Given the description of an element on the screen output the (x, y) to click on. 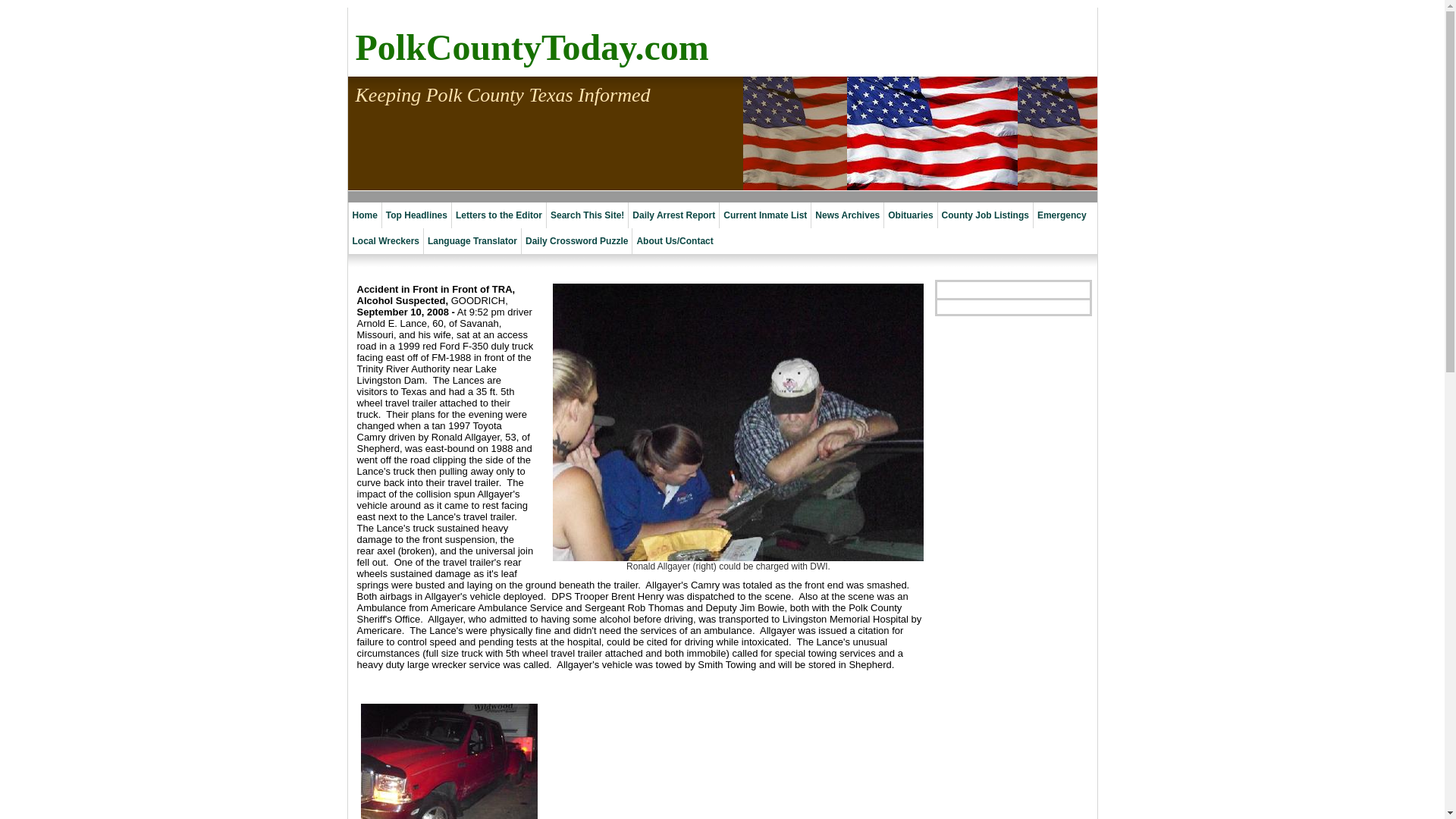
Language Translator (472, 240)
Top Headlines (416, 215)
Letters to the Editor (498, 215)
Home (363, 215)
Daily Arrest Report (673, 215)
Emergency (1061, 215)
Search This Site! (586, 215)
Current Inmate List (764, 215)
Obituaries (909, 215)
County Job Listings (984, 215)
News Archives (846, 215)
Local Wreckers (385, 240)
Daily Crossword Puzzle (576, 240)
